Given the description of an element on the screen output the (x, y) to click on. 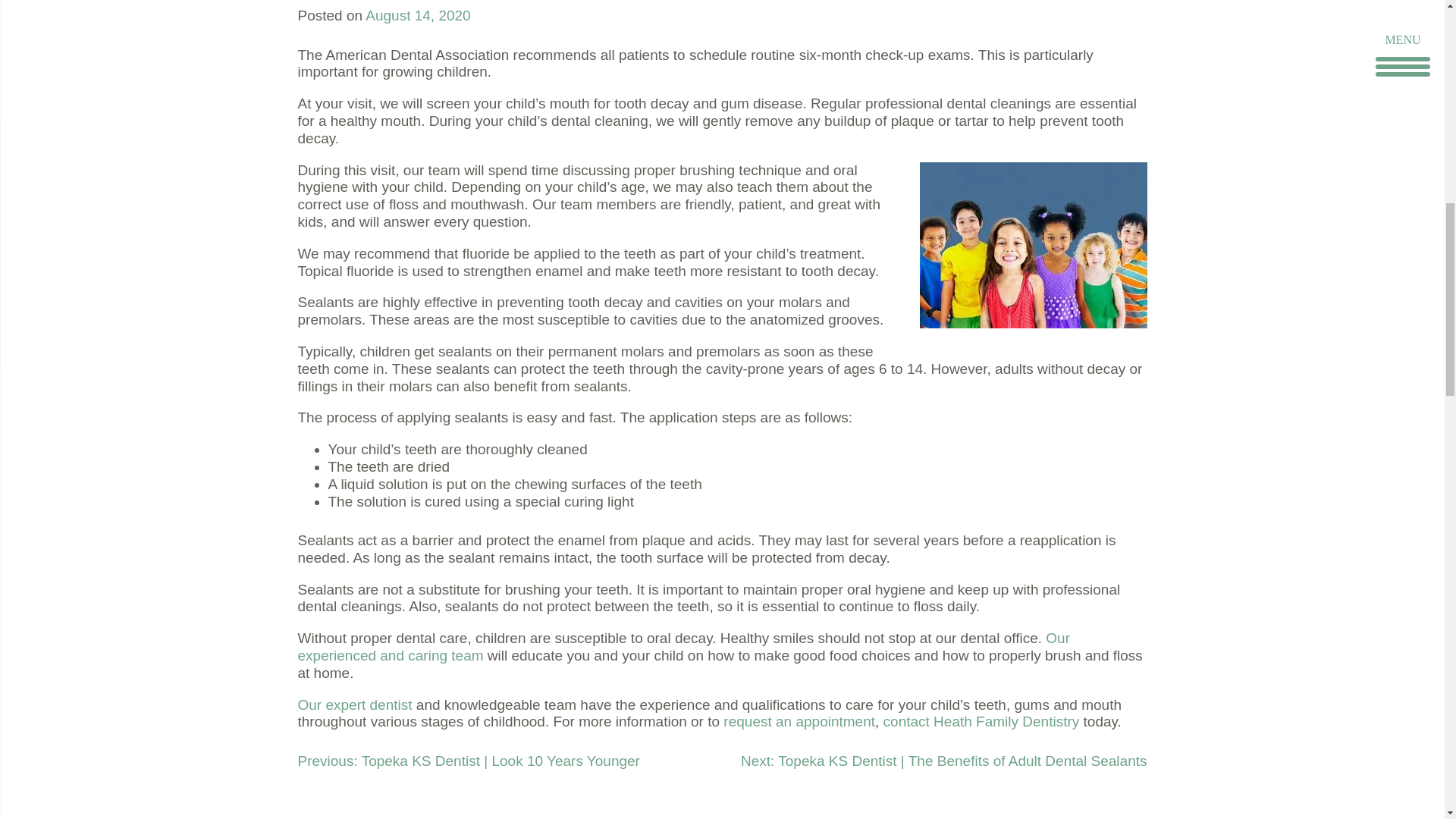
August 14, 2020 (417, 15)
Our experienced and caring team (682, 646)
Our expert dentist (354, 703)
contact Heath Family Dentistry (981, 721)
request an appointment (799, 721)
